Given the description of an element on the screen output the (x, y) to click on. 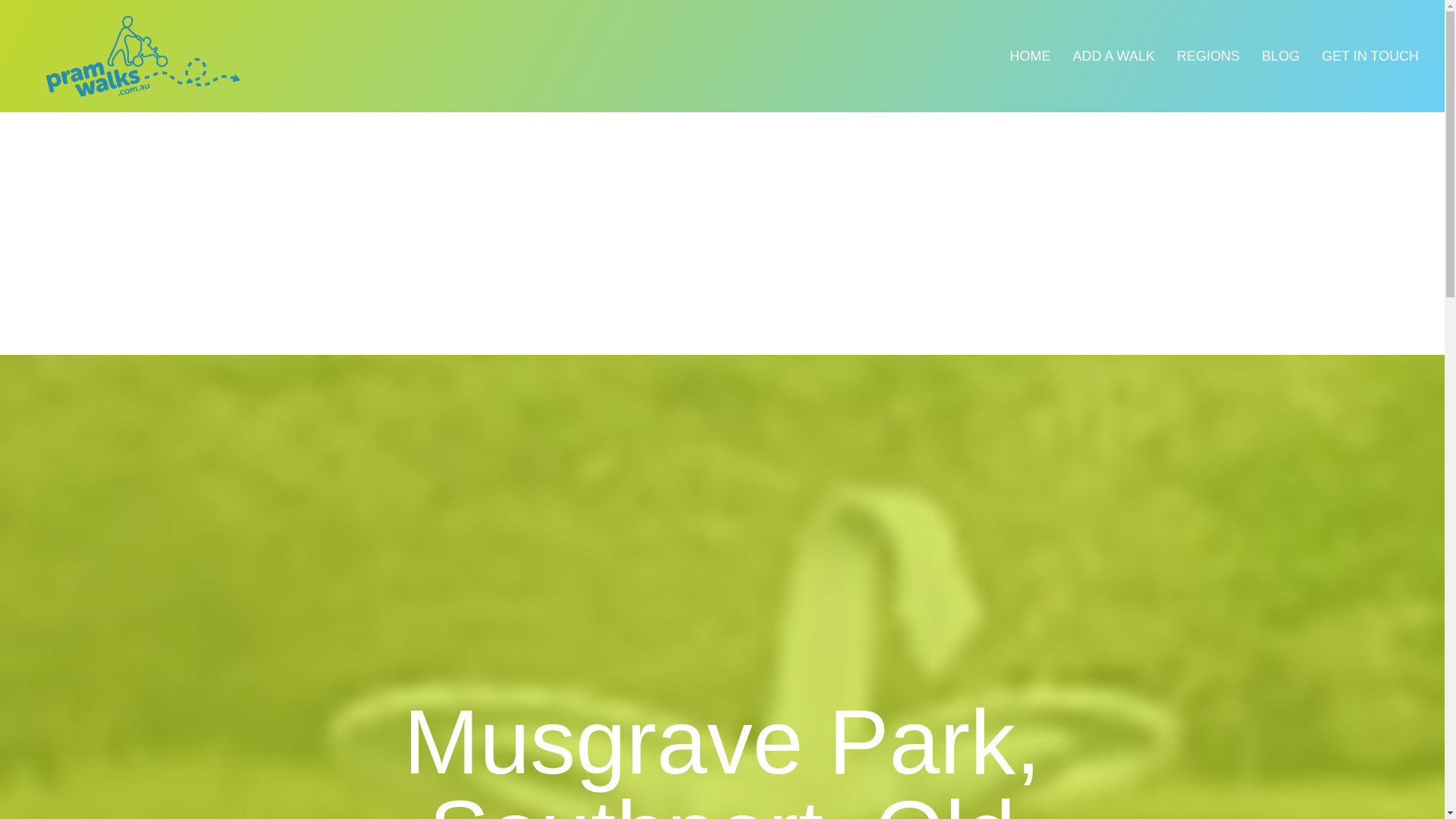
ADD A WALK (1114, 56)
Pram Walks logo blue (144, 56)
Musgrave Park (721, 593)
REGIONS (1208, 56)
HOME (1029, 56)
BLOG (1280, 56)
GET IN TOUCH (1370, 56)
